Given the description of an element on the screen output the (x, y) to click on. 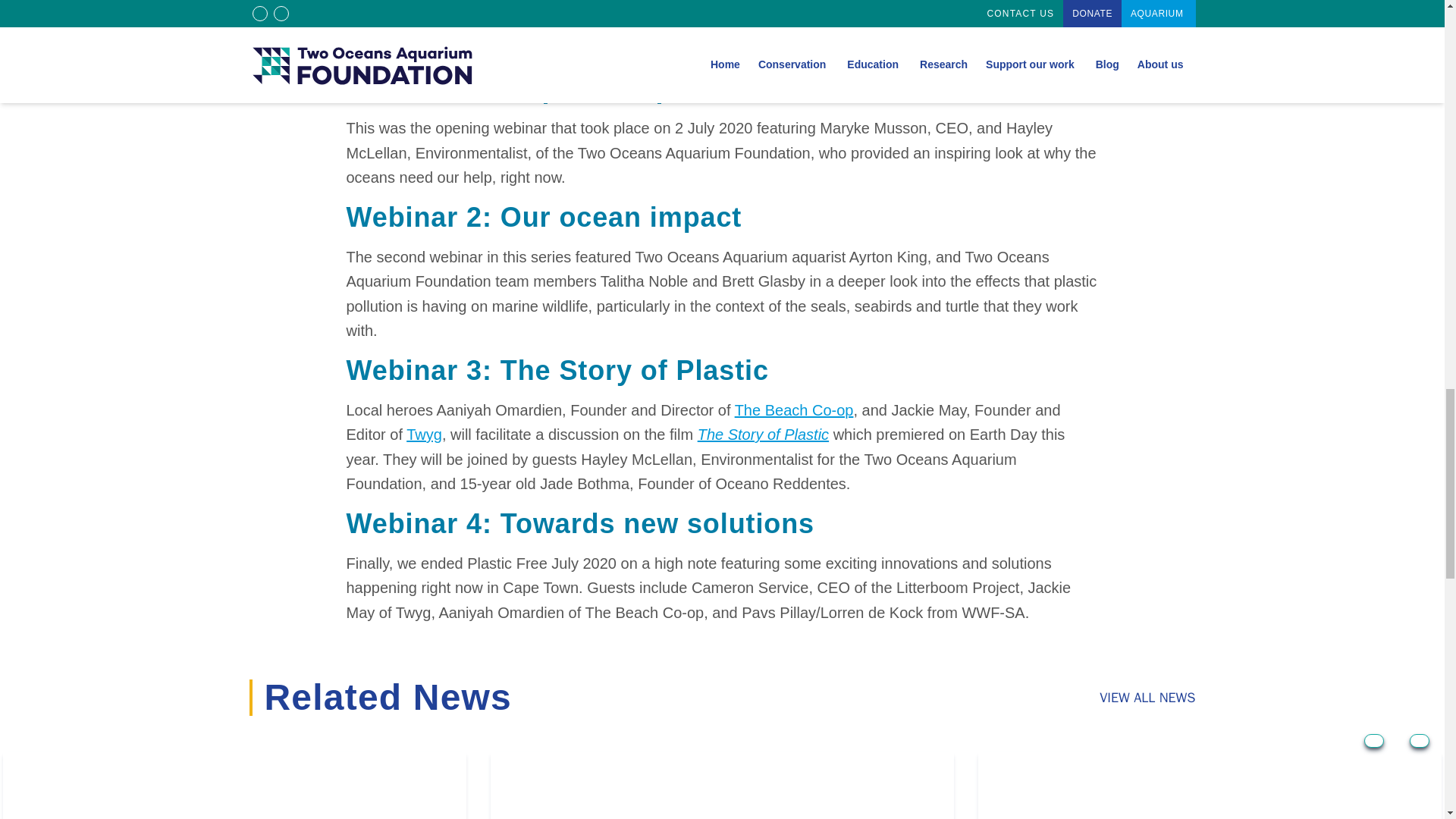
The Beach Co-op (794, 410)
